Given the description of an element on the screen output the (x, y) to click on. 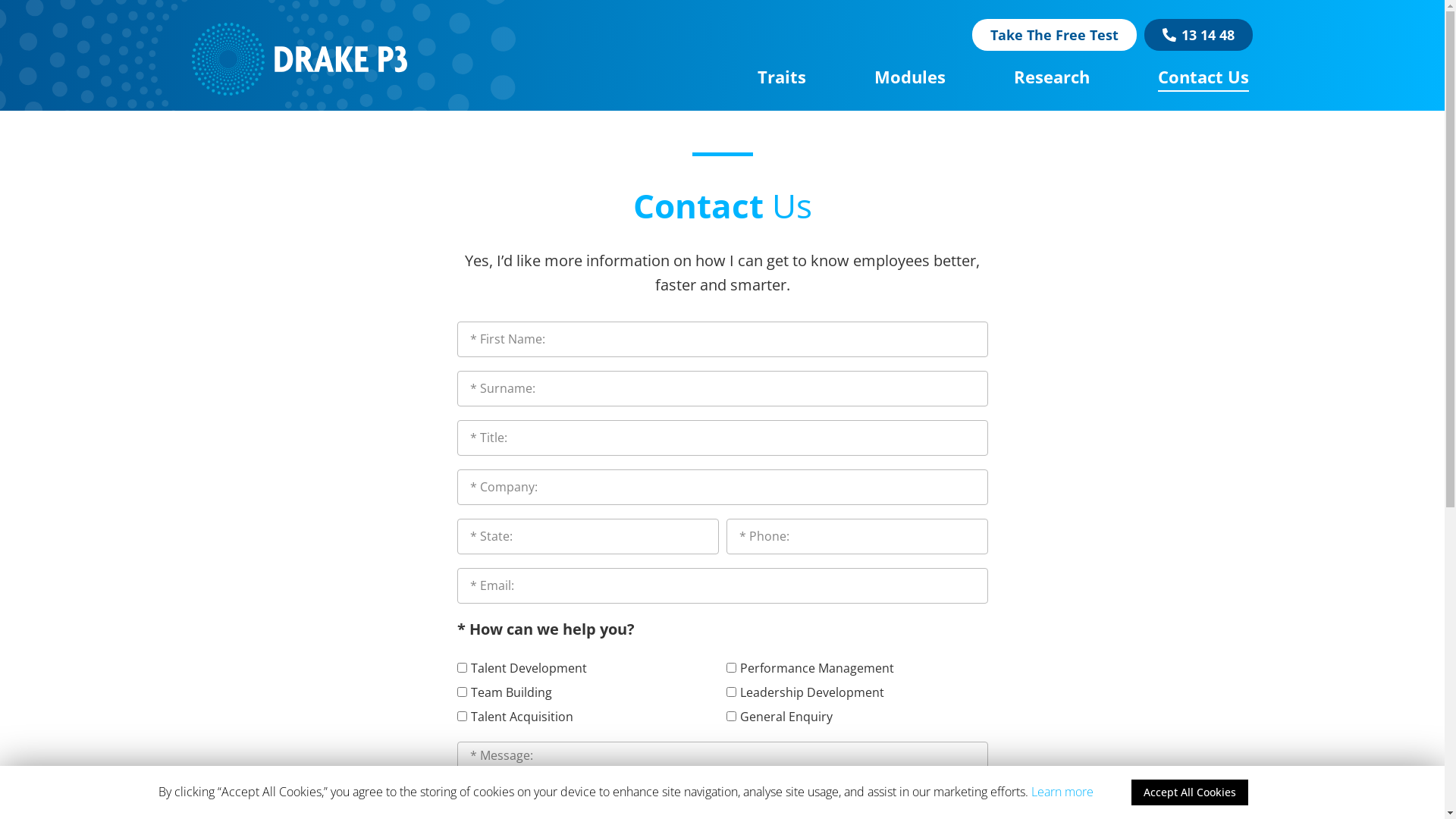
13 14 48 Element type: text (1198, 34)
Accept All Cookies Element type: text (1189, 792)
Research Element type: text (1051, 76)
Contact Us Element type: text (1202, 76)
Take The Free Test Element type: text (1054, 34)
Learn more Element type: text (1062, 791)
Traits Element type: text (781, 76)
Modules Element type: text (909, 76)
